Given the description of an element on the screen output the (x, y) to click on. 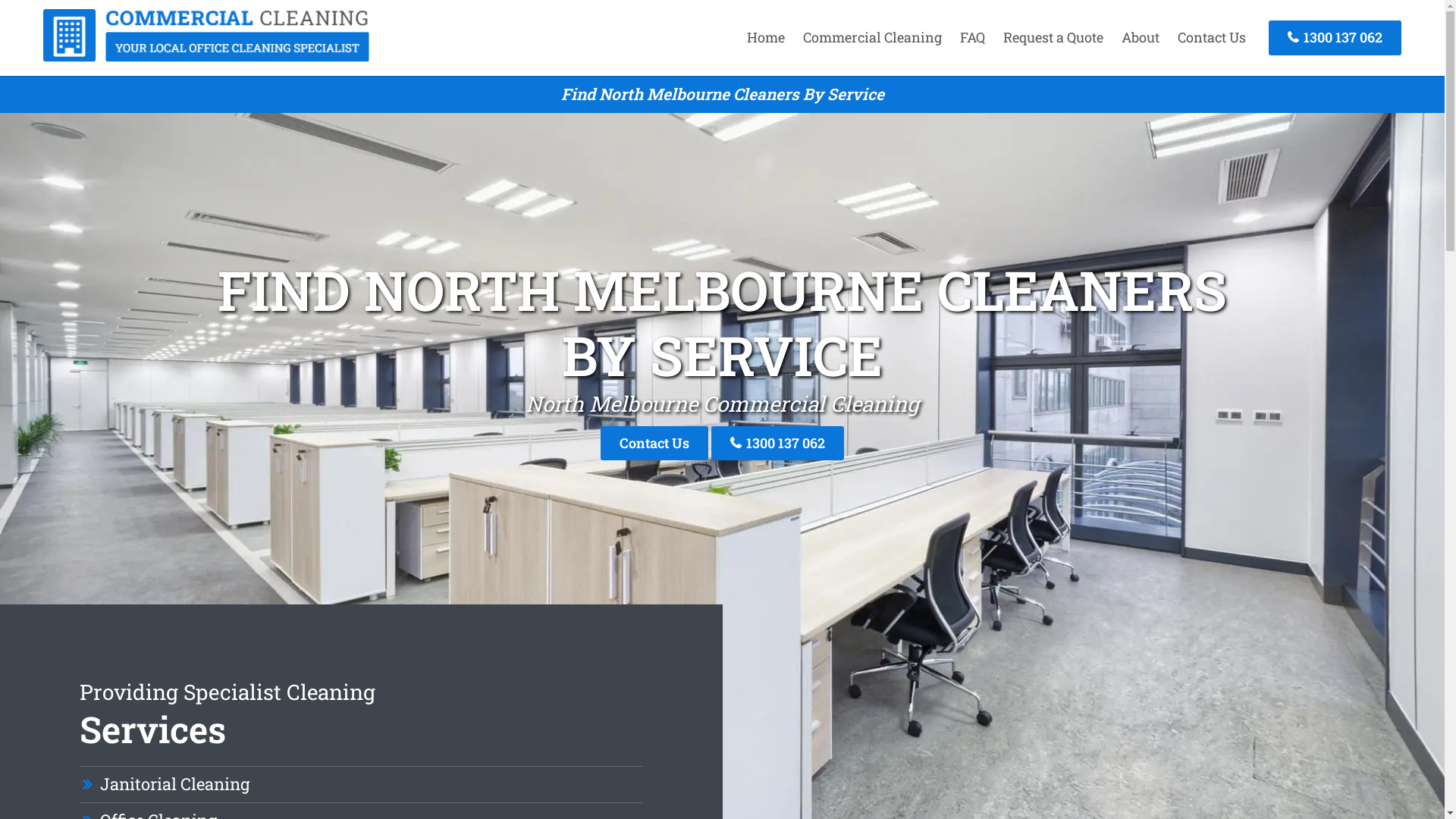
Request a Quote Element type: text (1052, 37)
Home Element type: text (765, 37)
Commercial Cleaning Element type: hover (206, 56)
Contact Us Element type: text (654, 443)
About Element type: text (1140, 37)
Contact Us Element type: text (1211, 37)
1300 137 062 Element type: text (777, 443)
Janitorial Cleaning Element type: text (174, 784)
FAQ Element type: text (972, 37)
1300 137 062 Element type: text (1334, 37)
Commercial Cleaning Element type: text (872, 37)
